Given the description of an element on the screen output the (x, y) to click on. 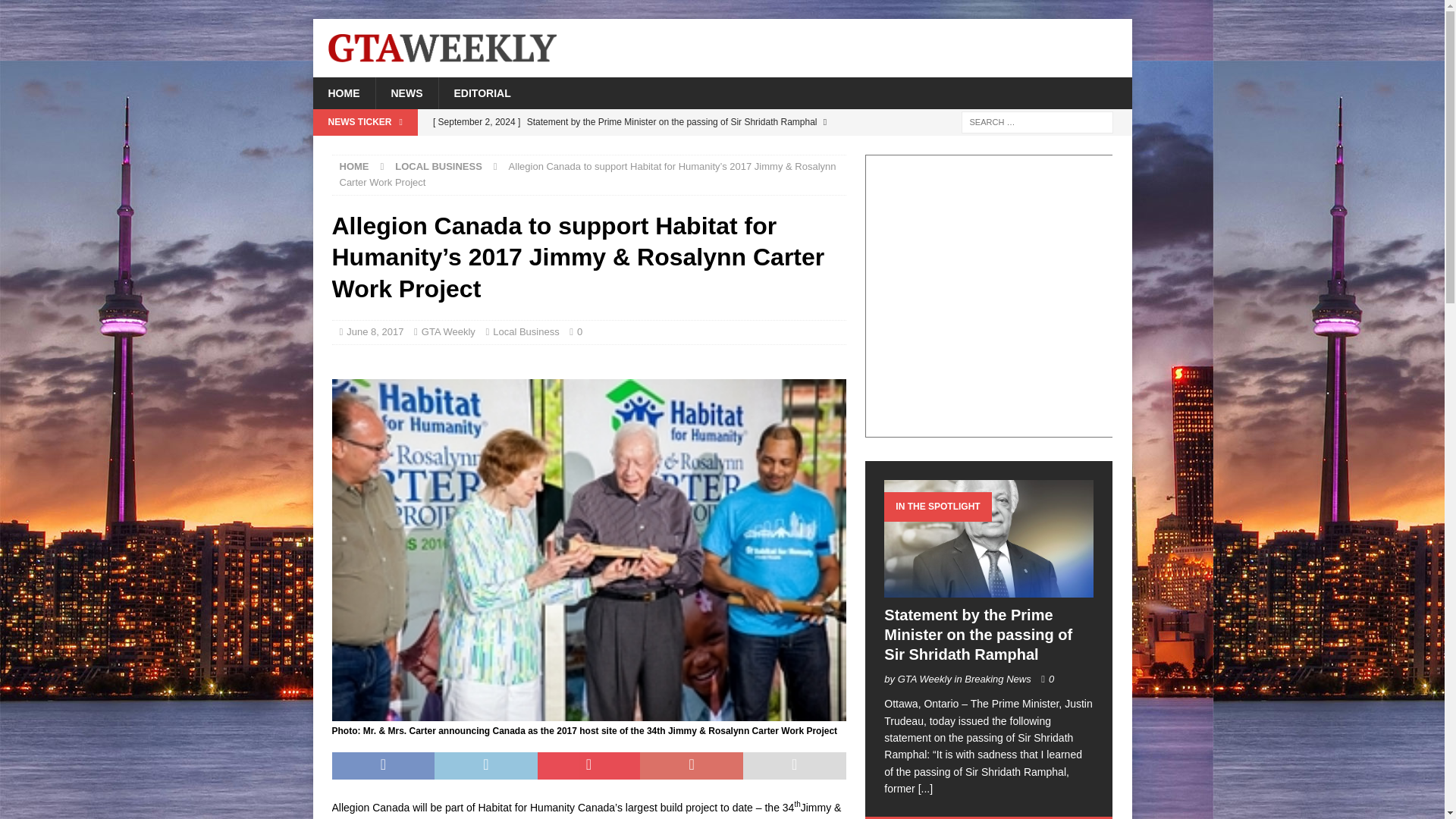
Search (56, 11)
HOME (354, 165)
EDITORIAL (481, 92)
June 8, 2017 (374, 331)
Local Business (526, 331)
NEWS (406, 92)
HOME (343, 92)
GTA Weekly (449, 331)
